Given the description of an element on the screen output the (x, y) to click on. 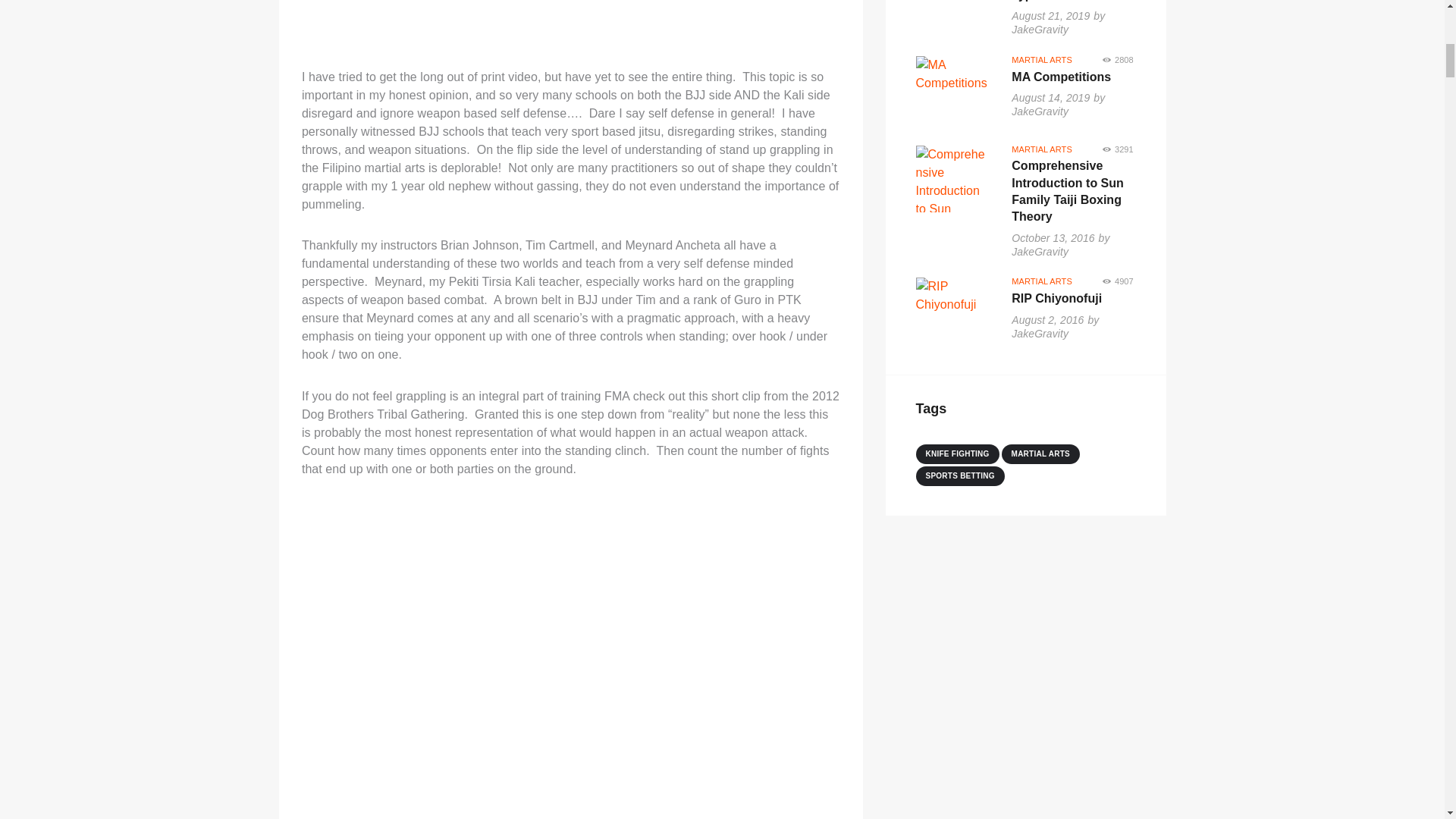
View all posts in martial arts (1041, 59)
View all posts in Martial Arts (1041, 280)
View all posts in Martial Arts (1041, 148)
